Given the description of an element on the screen output the (x, y) to click on. 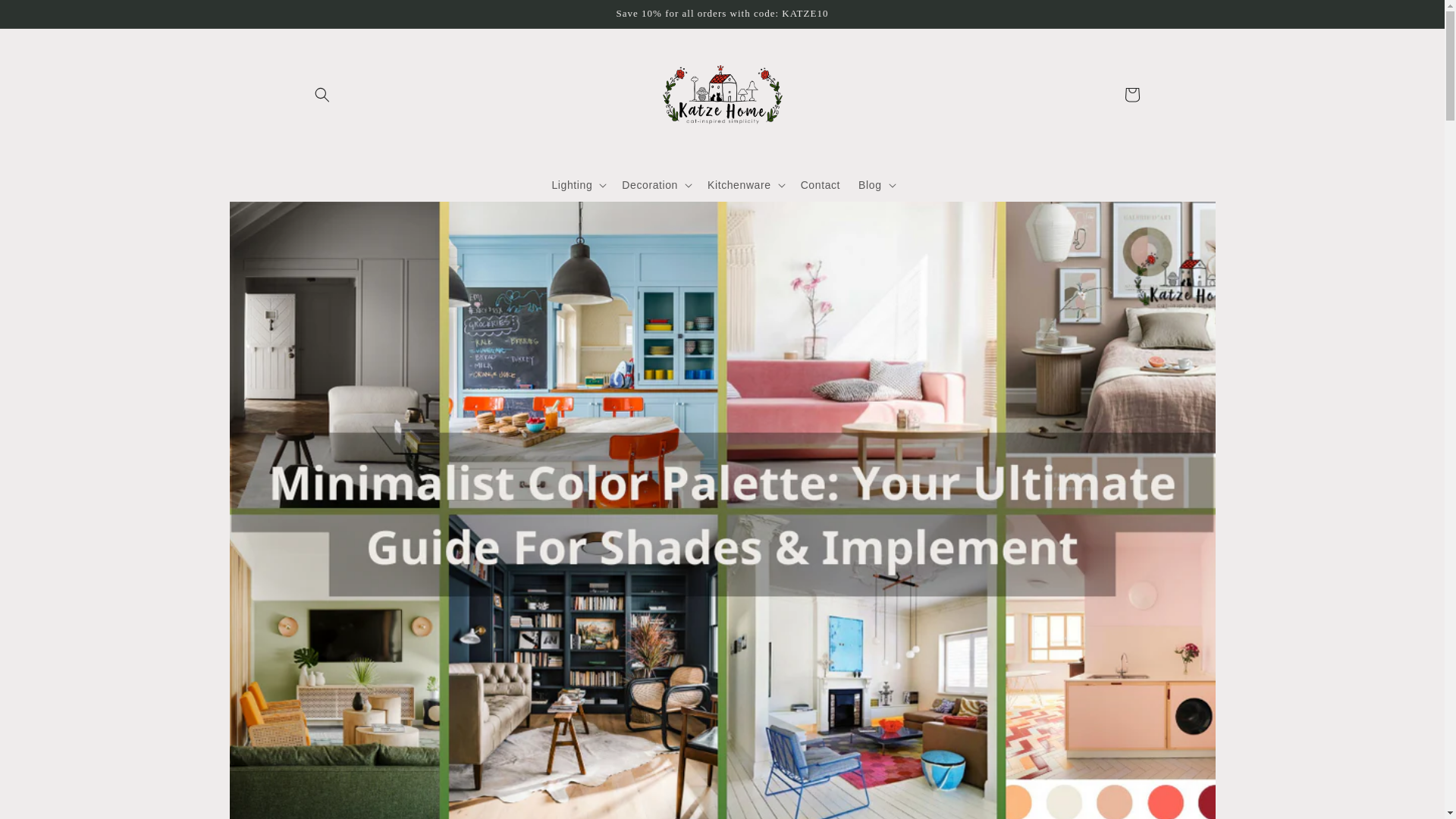
Contact (820, 184)
Skip to content (45, 17)
Cart (1131, 94)
